Given the description of an element on the screen output the (x, y) to click on. 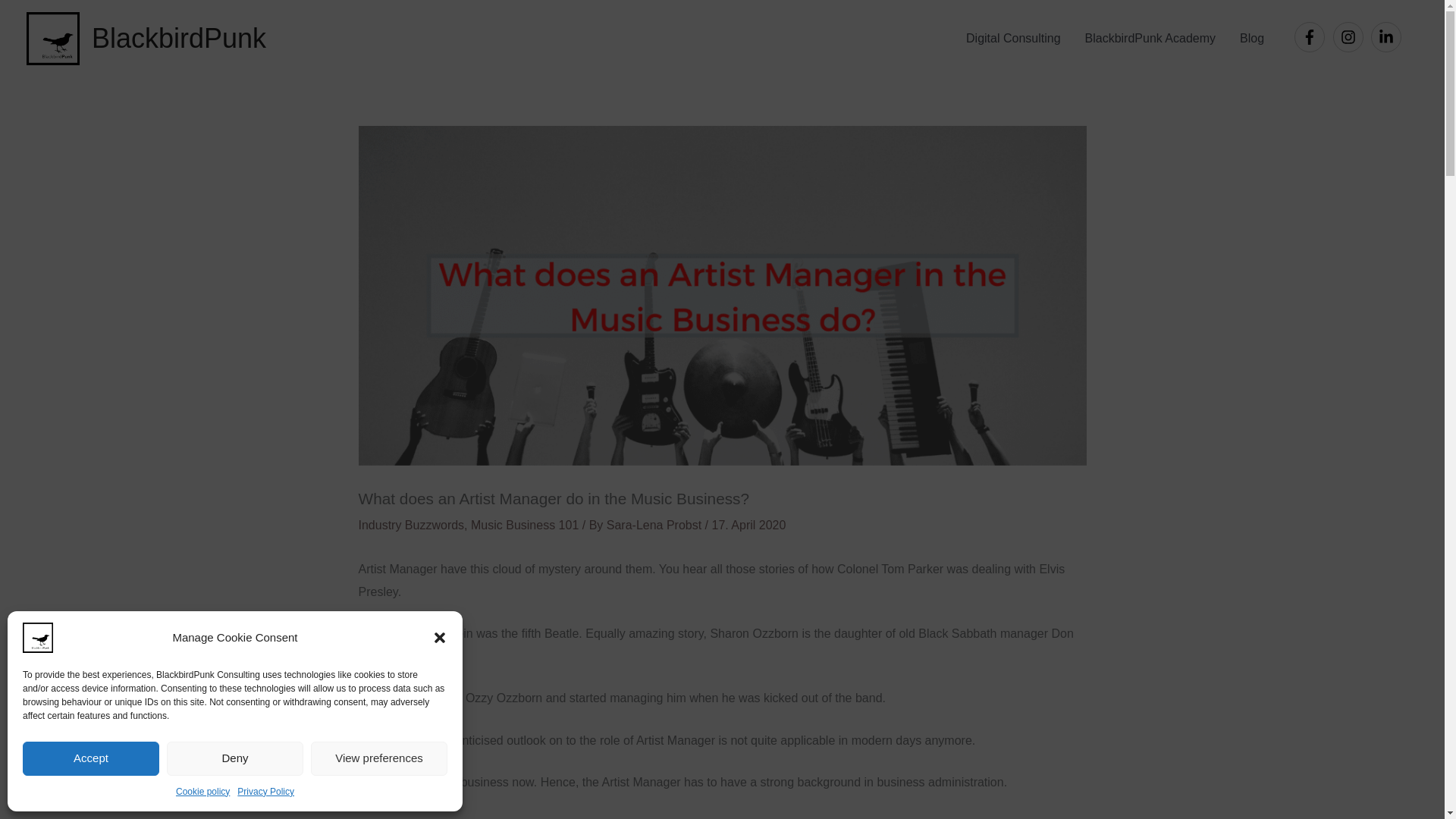
View all posts by Sara-Lena Probst (655, 524)
View preferences (378, 758)
Cookie policy (203, 791)
Deny (234, 758)
Sara-Lena Probst (655, 524)
BlackbirdPunk (178, 38)
Industry Buzzwords (411, 524)
Privacy Policy (265, 791)
Music Business 101 (524, 524)
Accept (90, 758)
